Given the description of an element on the screen output the (x, y) to click on. 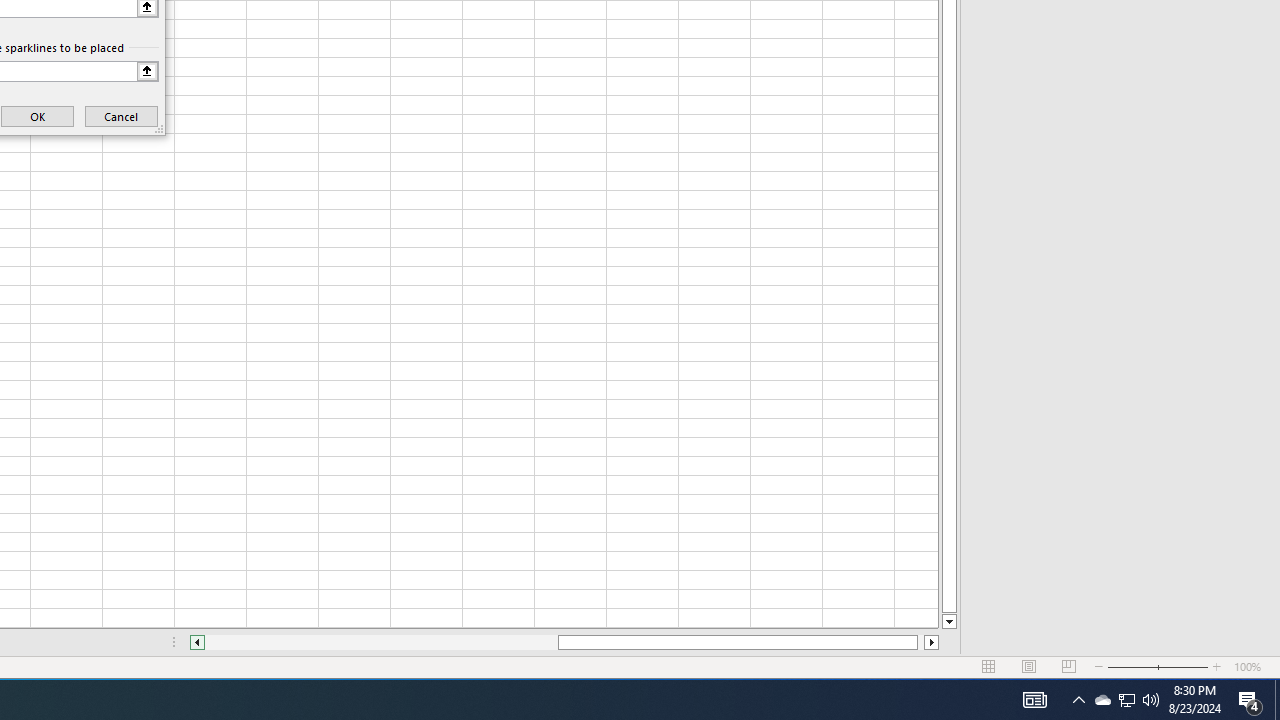
Page left (381, 642)
Column right (932, 642)
Zoom In (1217, 667)
Page Break Preview (1069, 667)
Normal (988, 667)
Class: NetUIScrollBar (564, 642)
Zoom Out (1131, 667)
Page Layout (1028, 667)
Column left (196, 642)
Page right (920, 642)
Zoom (1158, 667)
Line down (948, 622)
